Given the description of an element on the screen output the (x, y) to click on. 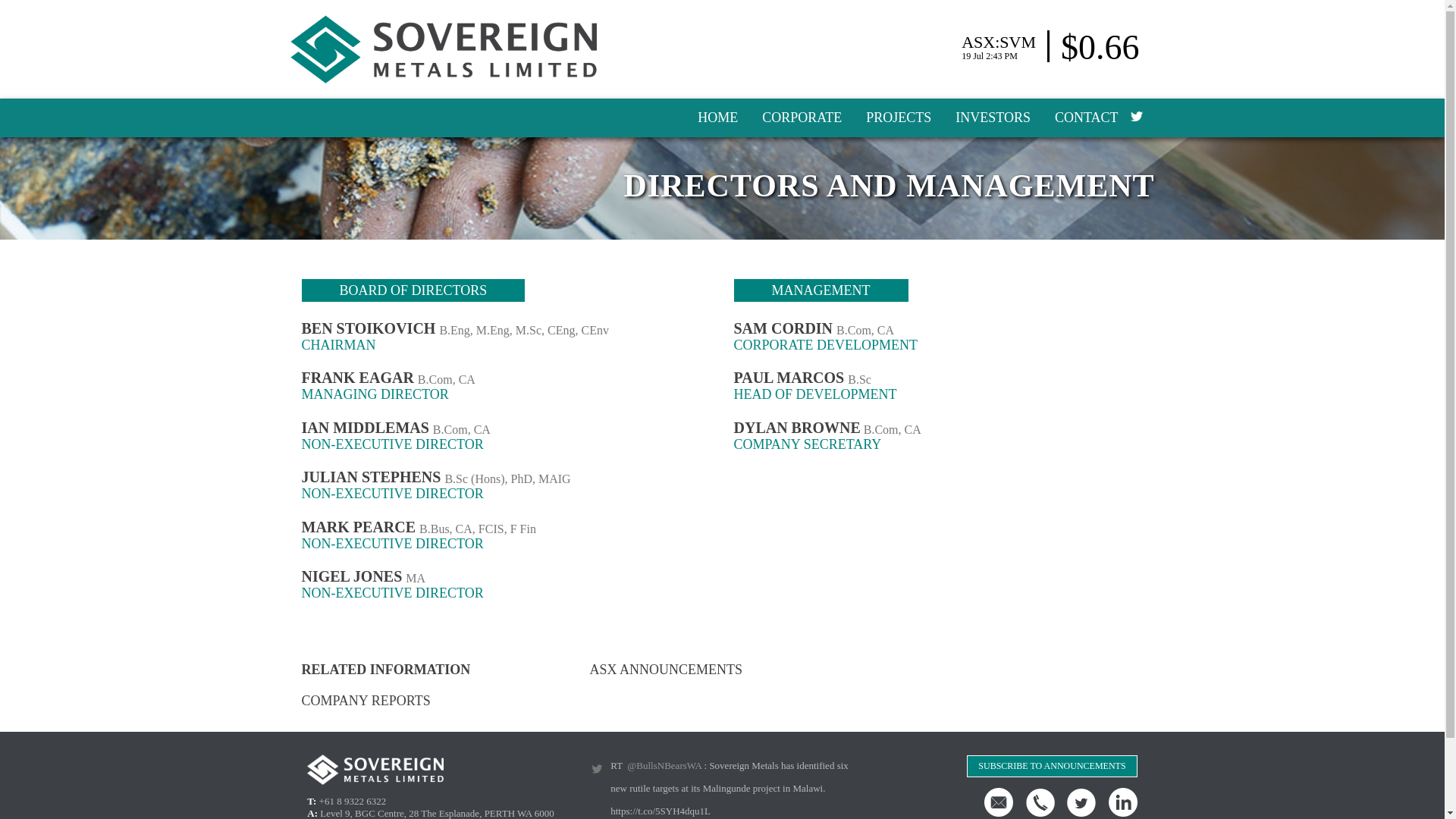
PROJECTS (898, 117)
CONTACT (1086, 117)
HOME (717, 117)
INVESTORS (992, 117)
CORPORATE (801, 117)
INVESTORS (992, 117)
PROJECTS (898, 117)
CONTACT (1086, 117)
TWITTER (1135, 116)
TWITTER (1135, 116)
HOME (717, 117)
CORPORATE (801, 117)
Sovereign Metals Limited (442, 49)
